Given the description of an element on the screen output the (x, y) to click on. 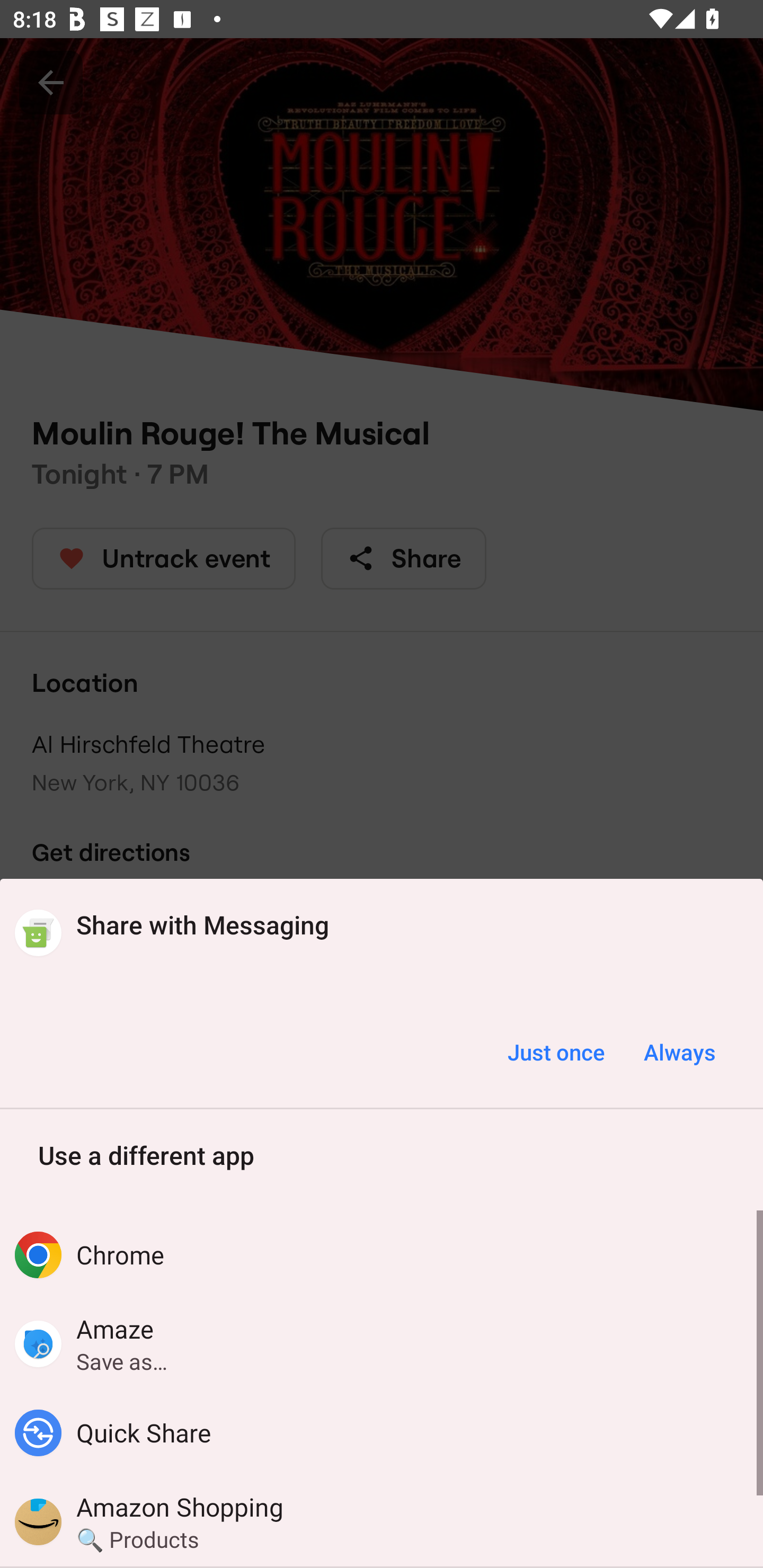
Just once (556, 1051)
Always (679, 1051)
Chrome (381, 1254)
Amaze Save as… (381, 1343)
Quick Share (381, 1432)
Amazon Shopping 🔍 Products (381, 1521)
